Given the description of an element on the screen output the (x, y) to click on. 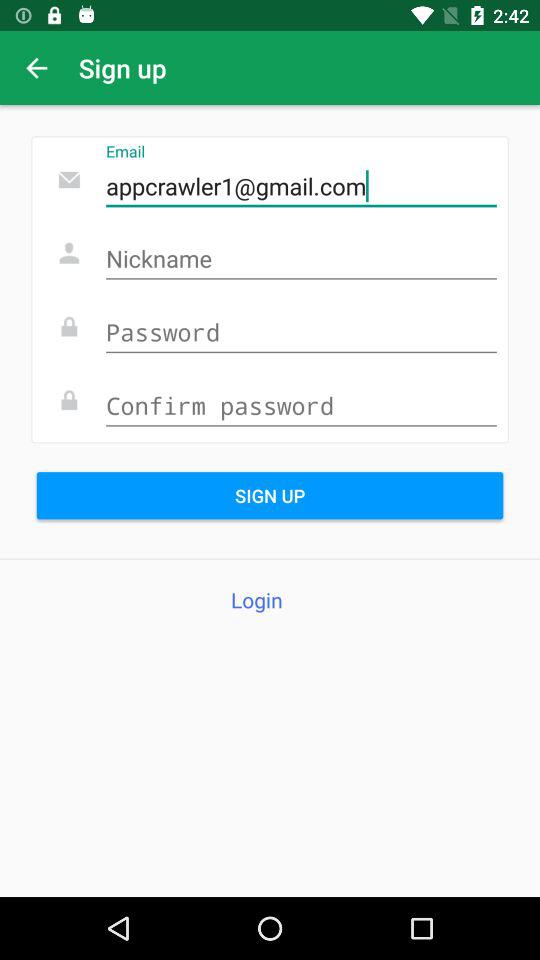
enter your password confirmation (301, 406)
